Given the description of an element on the screen output the (x, y) to click on. 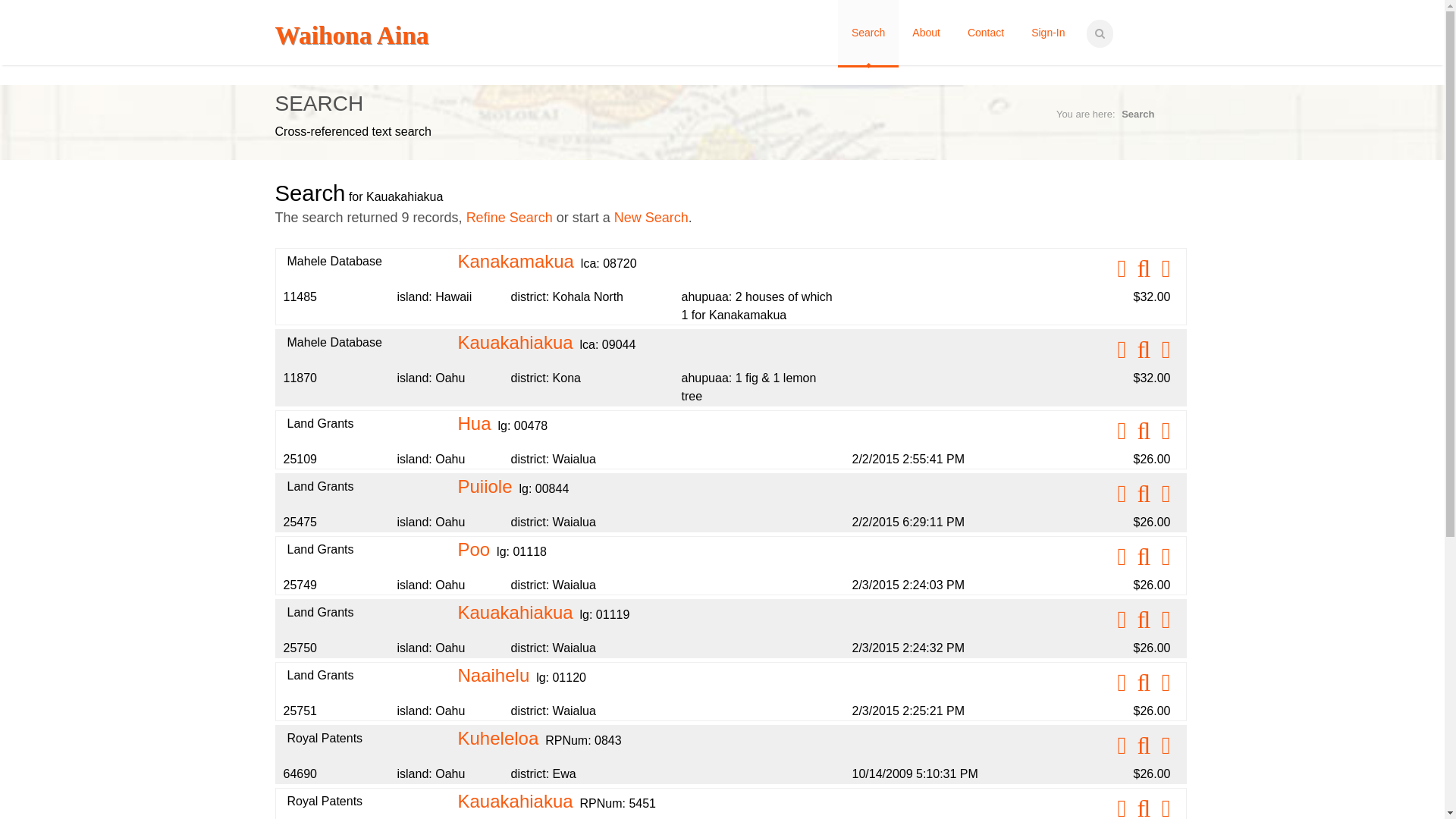
About (925, 32)
Waihona Aina (351, 35)
Search (1137, 113)
Contact (985, 32)
Search (868, 32)
Sign-In (1047, 32)
